Given the description of an element on the screen output the (x, y) to click on. 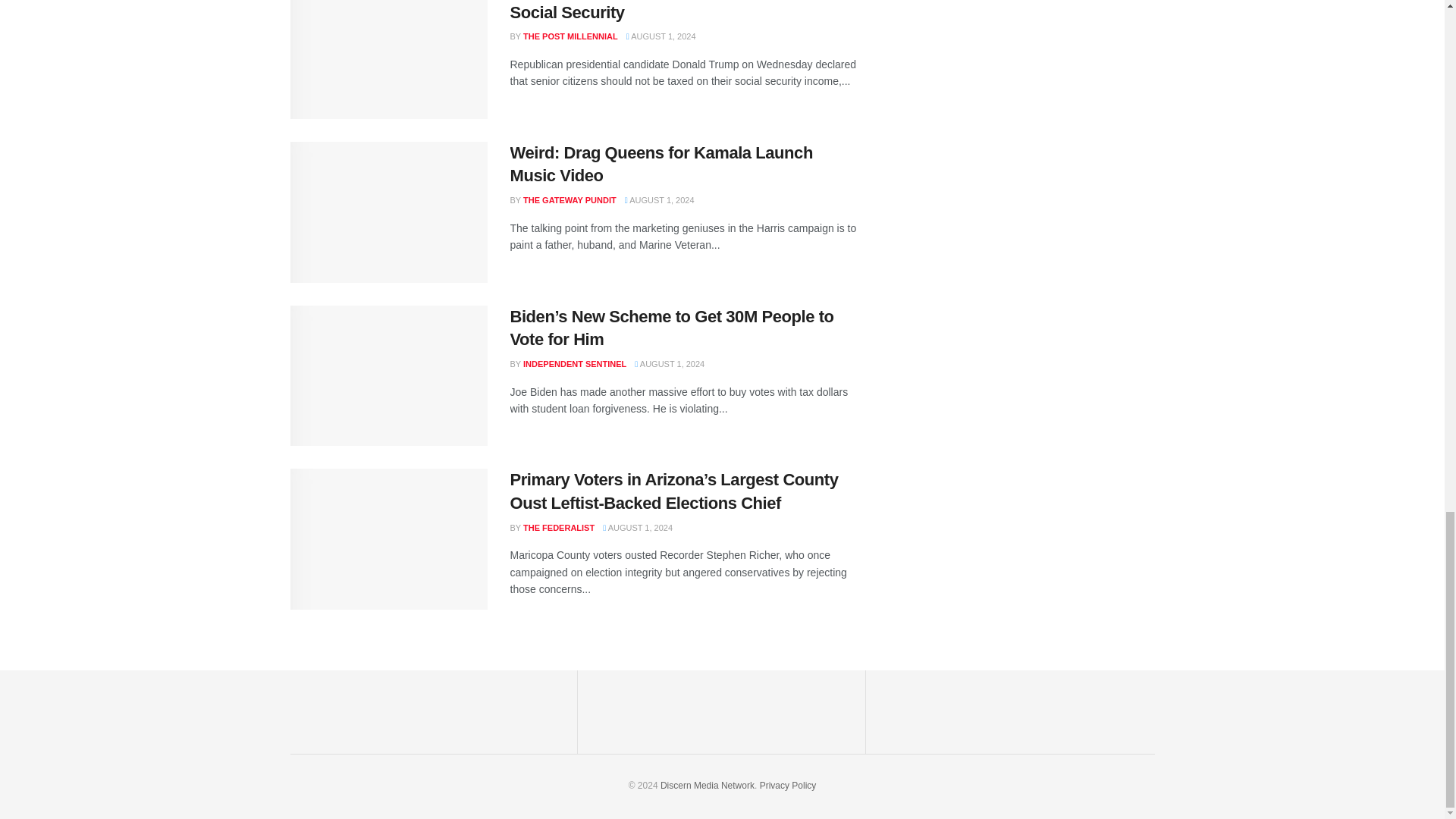
Discern Media Network (788, 785)
Discern Media Network (707, 785)
